Given the description of an element on the screen output the (x, y) to click on. 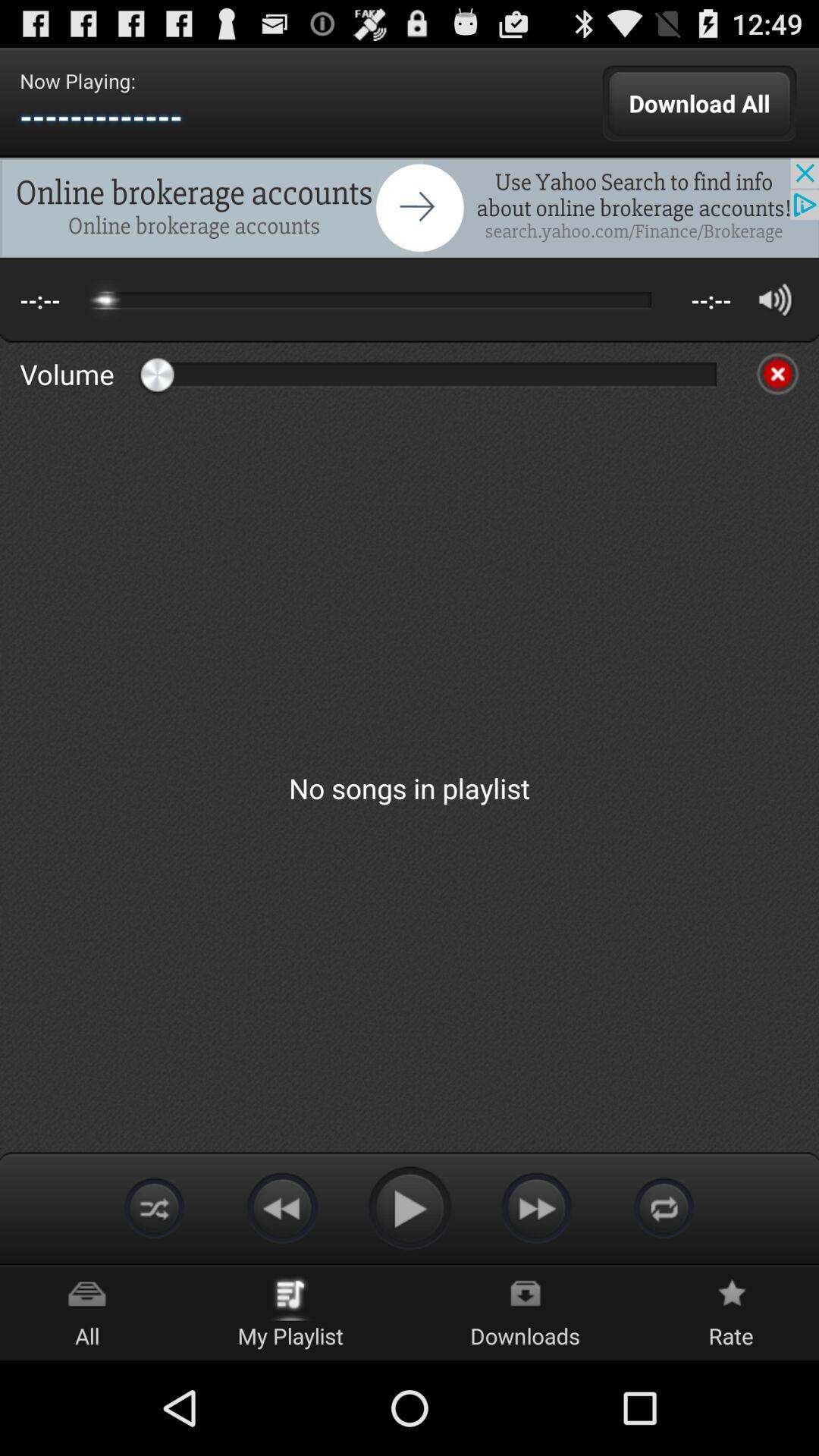
restart song (664, 1207)
